Given the description of an element on the screen output the (x, y) to click on. 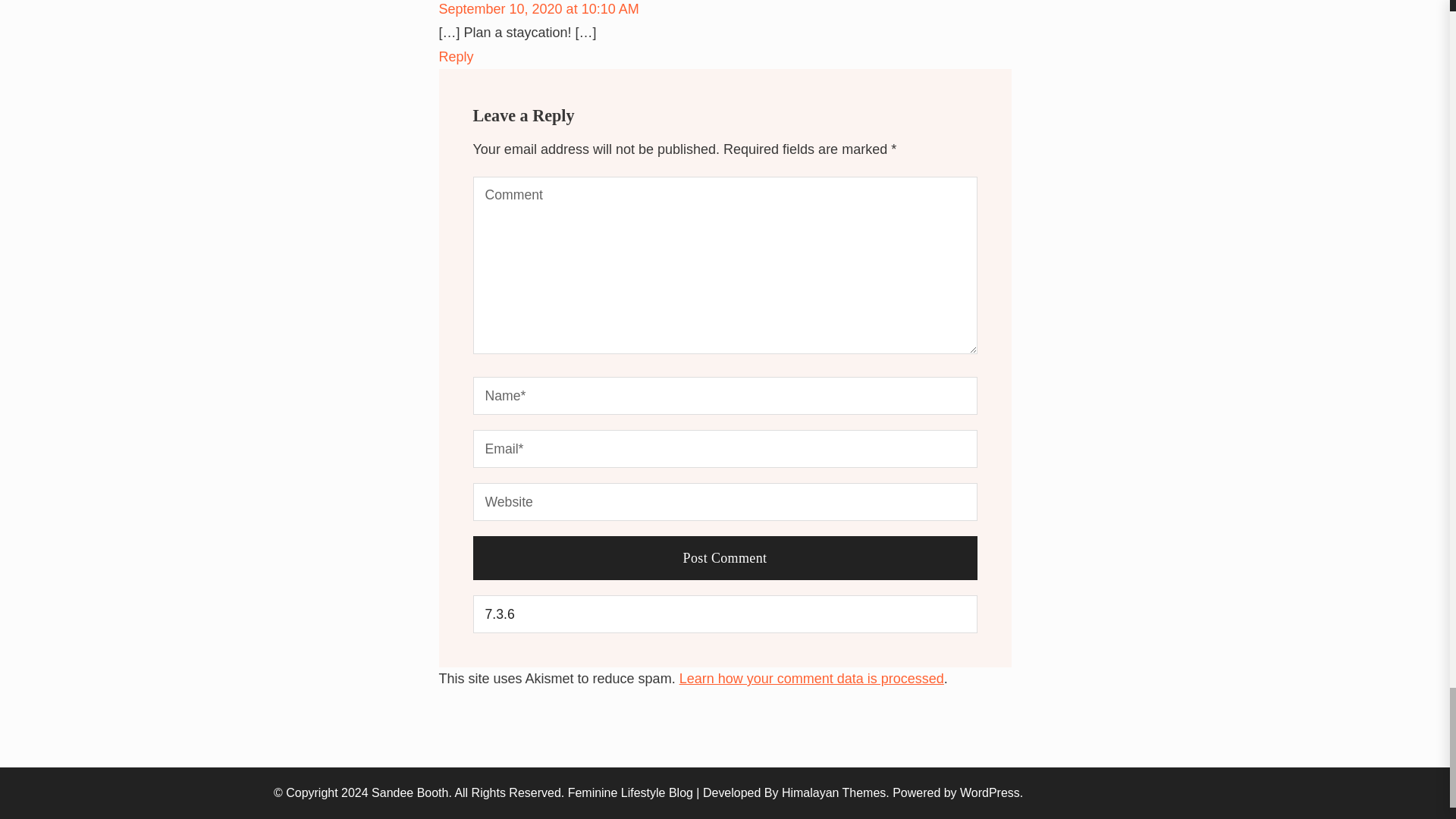
7.3.6 (724, 614)
Post Comment (724, 557)
